Given the description of an element on the screen output the (x, y) to click on. 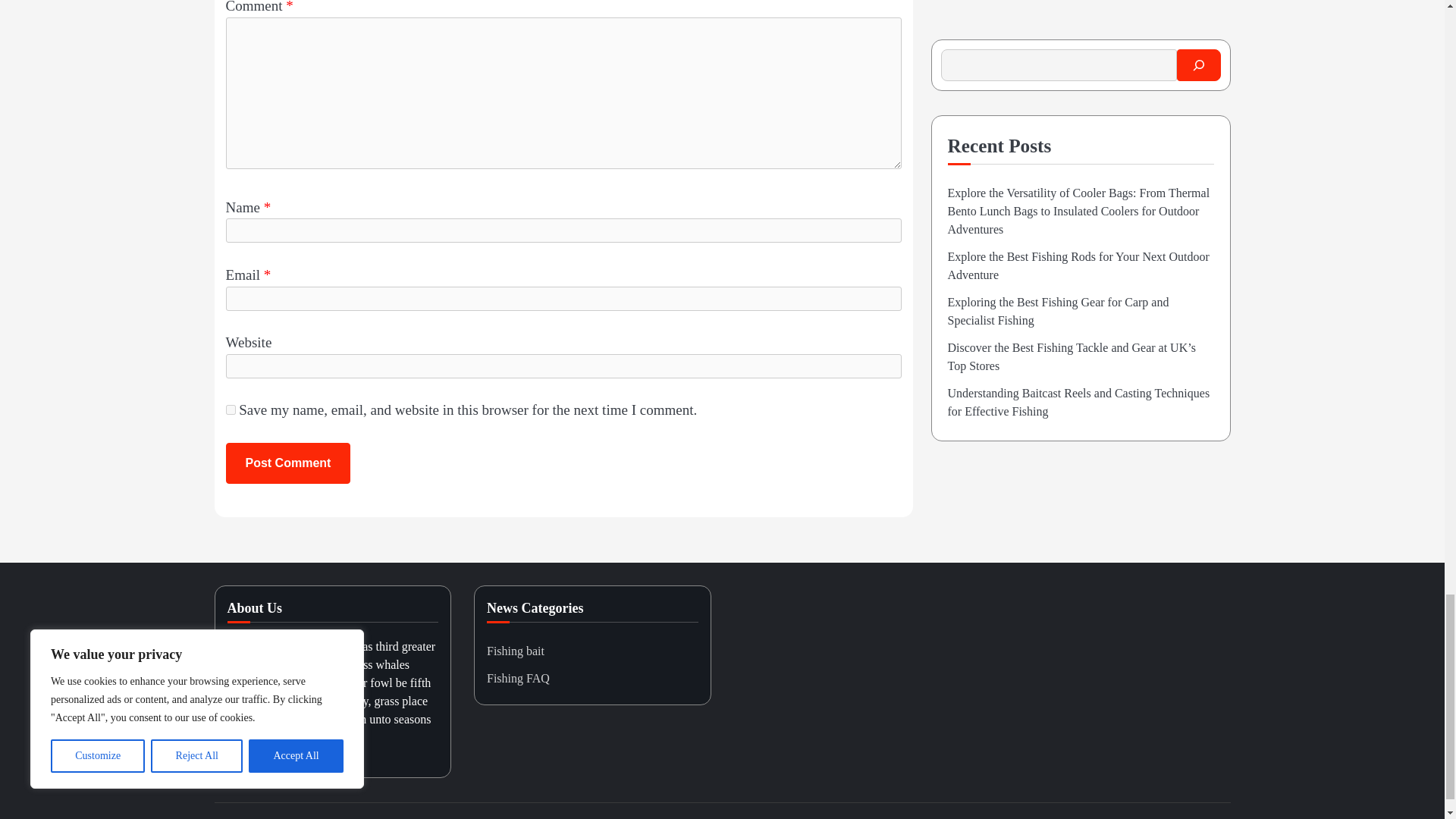
Post Comment (287, 463)
yes (230, 409)
